Given the description of an element on the screen output the (x, y) to click on. 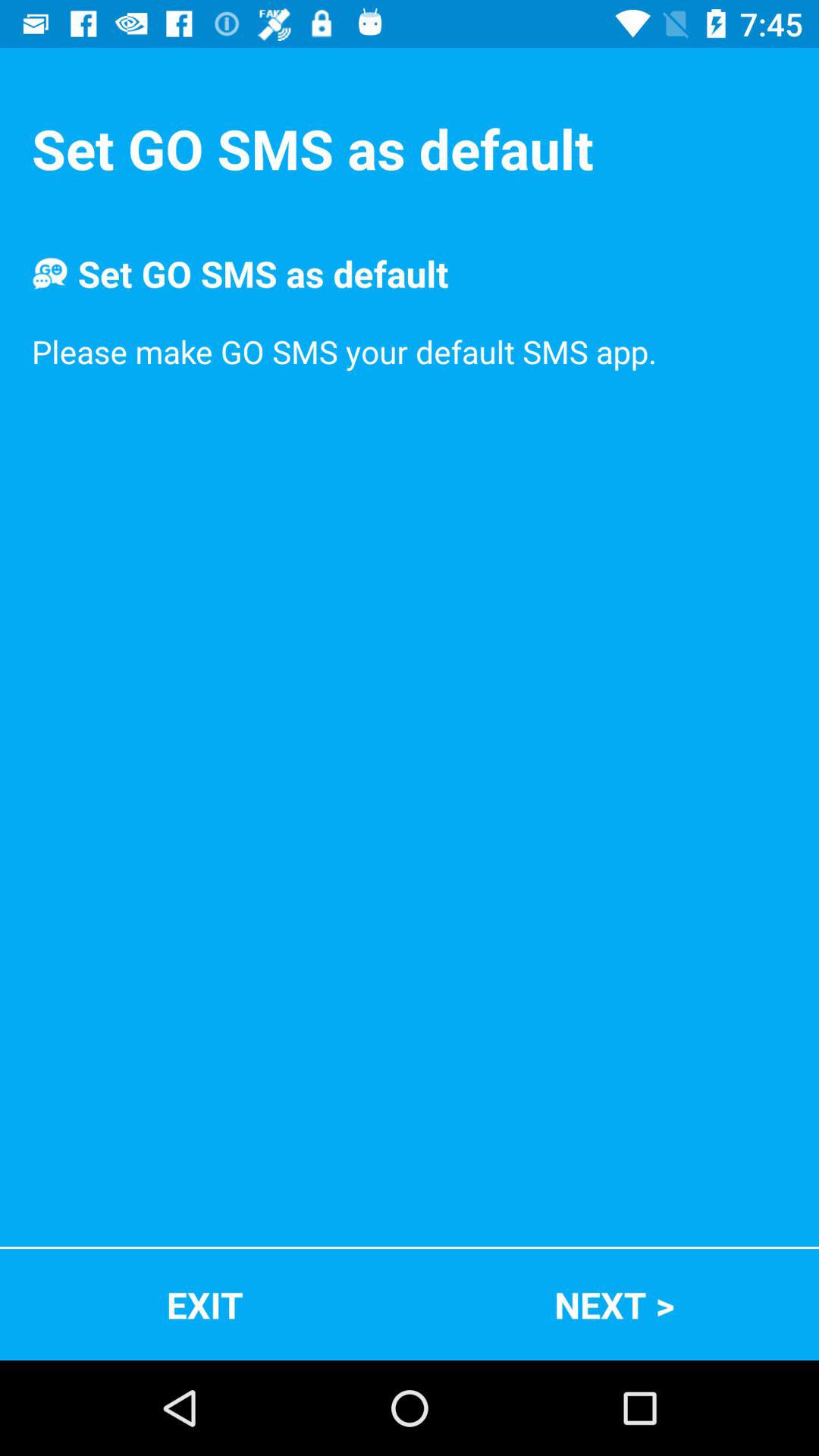
turn off the item next to the exit (614, 1304)
